Given the description of an element on the screen output the (x, y) to click on. 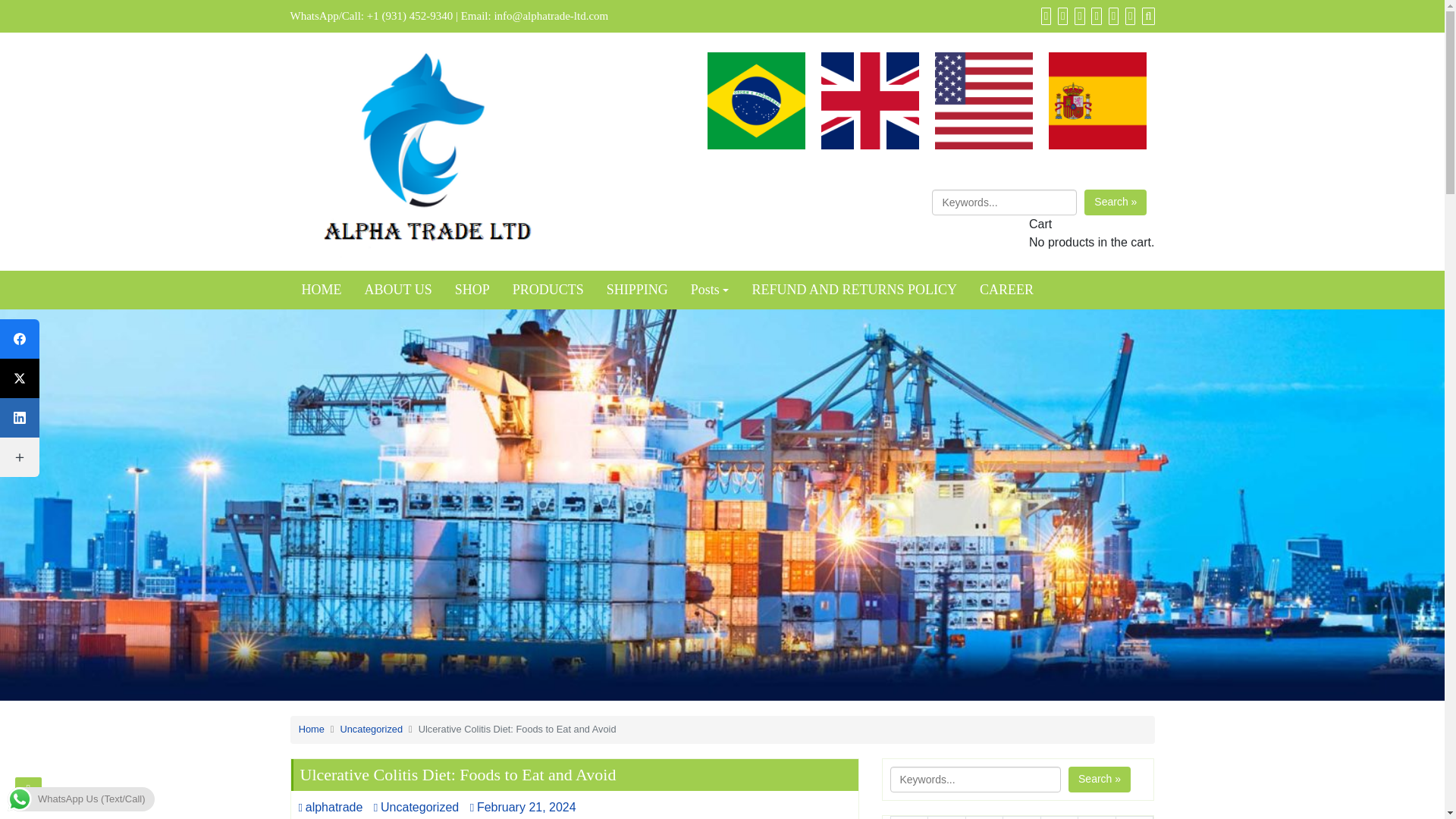
Ulcerative Colitis Diet: Foods to Eat and Avoid (1097, 100)
Ulcerative Colitis Diet: Foods to Eat and Avoid (869, 100)
Posts (710, 289)
SHIPPING (637, 289)
ABOUT US (398, 289)
REFUND AND RETURNS POLICY (853, 289)
Ulcerative Colitis Diet: Foods to Eat and Avoid (983, 100)
Monday (908, 817)
PRODUCTS (547, 289)
HOME (320, 289)
CAREER (1006, 289)
SHOP (472, 289)
Ulcerative Colitis Diet: Foods to Eat and Avoid (756, 100)
